Given the description of an element on the screen output the (x, y) to click on. 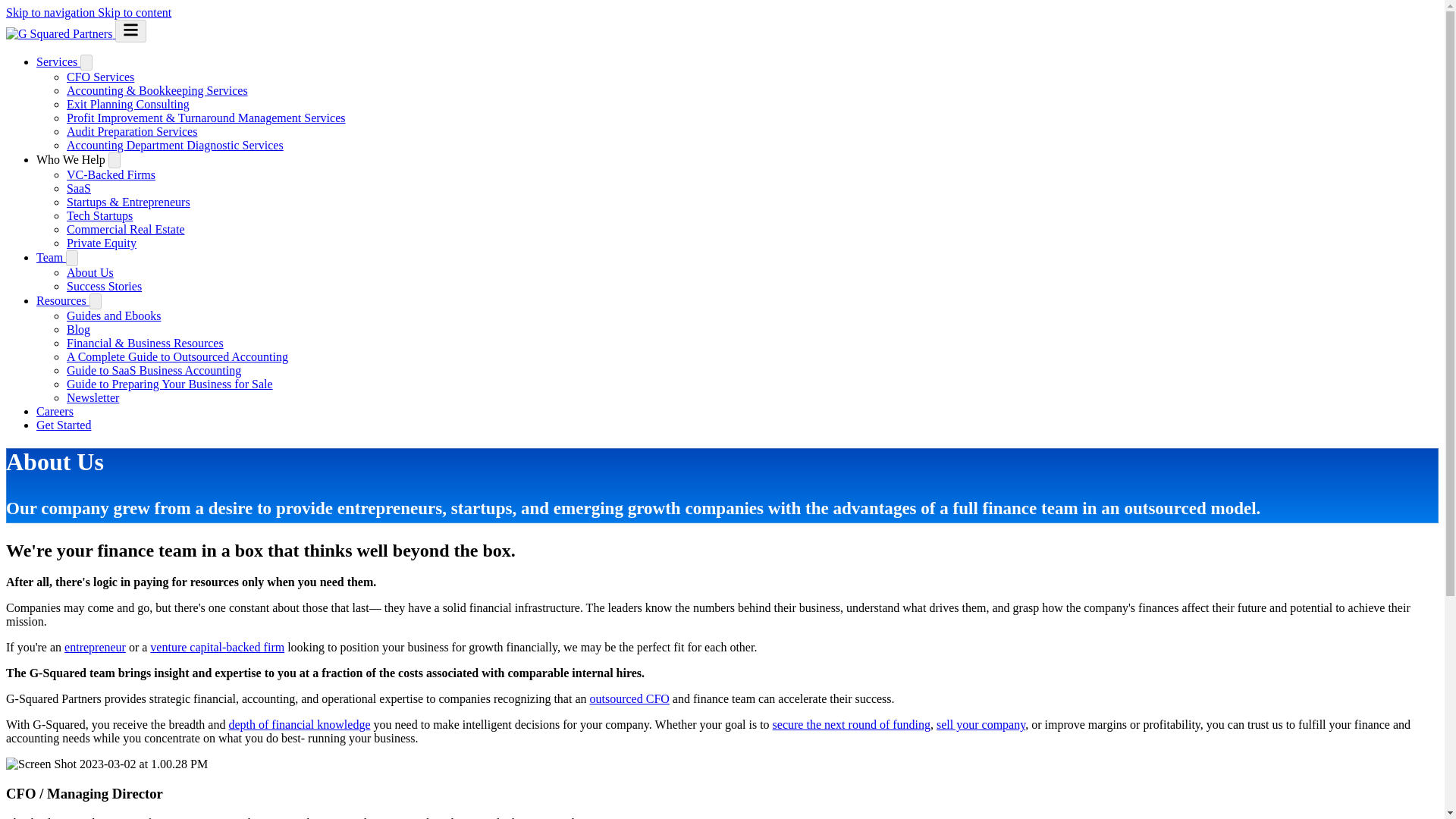
entrepreneur (94, 646)
SaaS (78, 187)
Skip to content (134, 11)
Guide to Preparing Your Business for Sale (169, 383)
Resources (62, 300)
Exit Planning Consulting (127, 103)
secure the next round of funding (851, 724)
VC-Backed Firms (110, 174)
Get Started (63, 424)
Private Equity (101, 242)
